Given the description of an element on the screen output the (x, y) to click on. 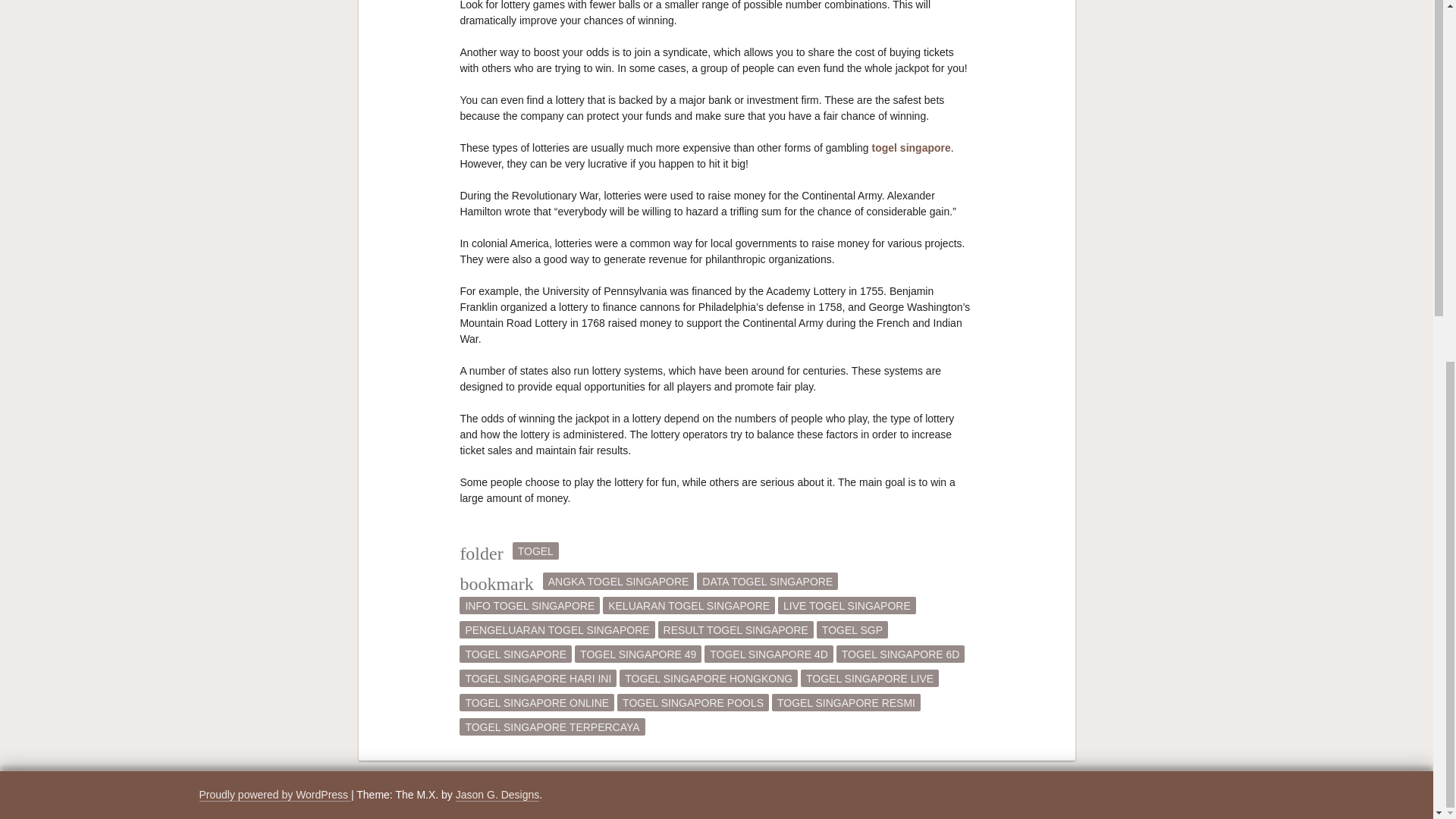
TOGEL SINGAPORE HARI INI (537, 678)
TOGEL SINGAPORE LIVE (869, 678)
TOGEL SGP (852, 629)
TOGEL SINGAPORE (516, 653)
LIVE TOGEL SINGAPORE (846, 605)
TOGEL SINGAPORE RESMI (845, 702)
PENGELUARAN TOGEL SINGAPORE (556, 629)
TOGEL SINGAPORE 6D (900, 653)
KELUARAN TOGEL SINGAPORE (688, 605)
TOGEL SINGAPORE TERPERCAYA (552, 726)
